Given the description of an element on the screen output the (x, y) to click on. 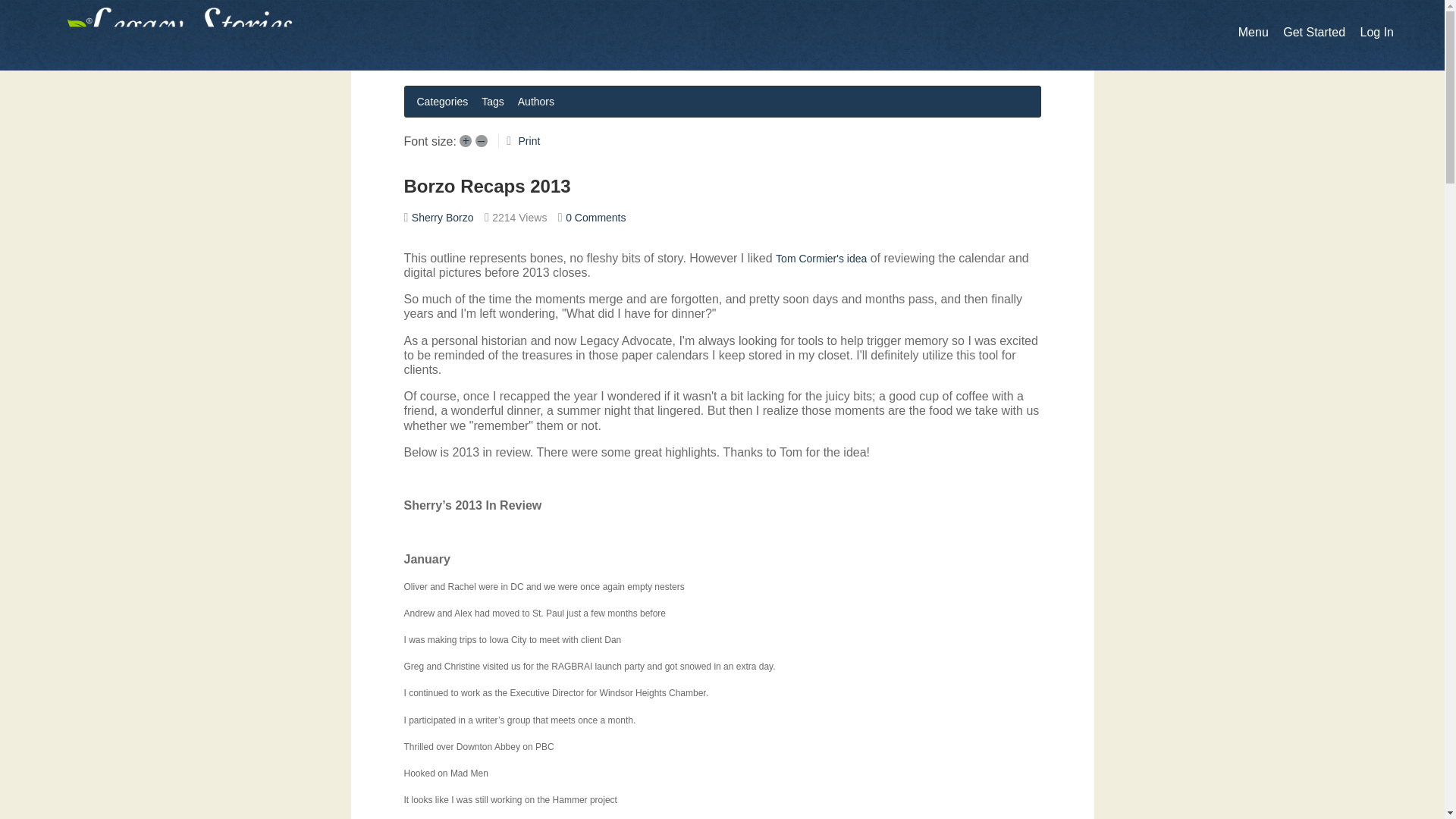
Authors (536, 101)
Print (529, 141)
Categories (442, 101)
Log In (1376, 31)
Print (529, 141)
Tags (493, 101)
Sherry Borzo (443, 217)
Menu (1253, 31)
Get Started (1313, 31)
